Given the description of an element on the screen output the (x, y) to click on. 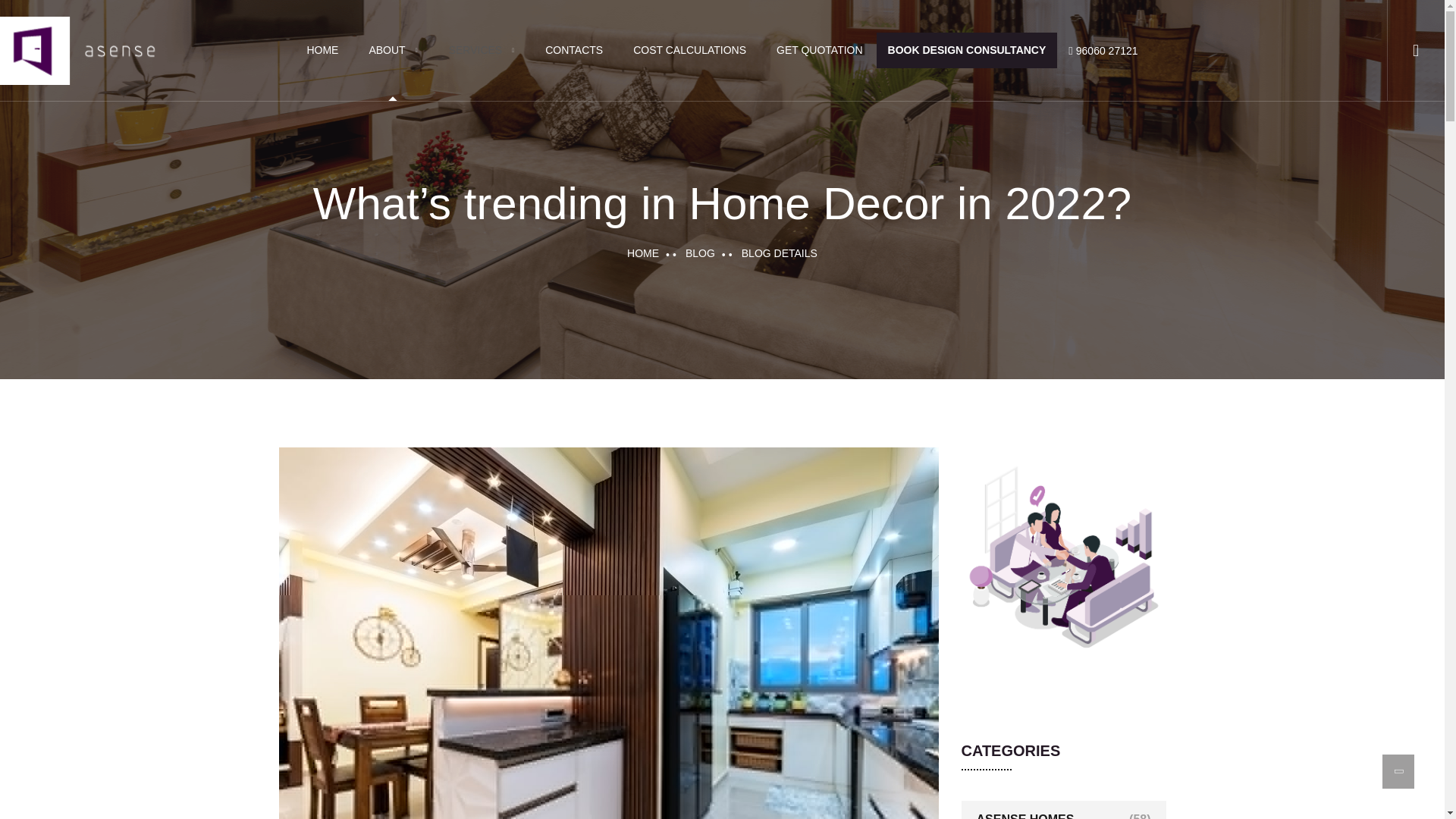
BOOK DESIGN CONSULTANCY (967, 49)
COST CALCULATIONS (689, 50)
96060 27121 (1102, 50)
